Given the description of an element on the screen output the (x, y) to click on. 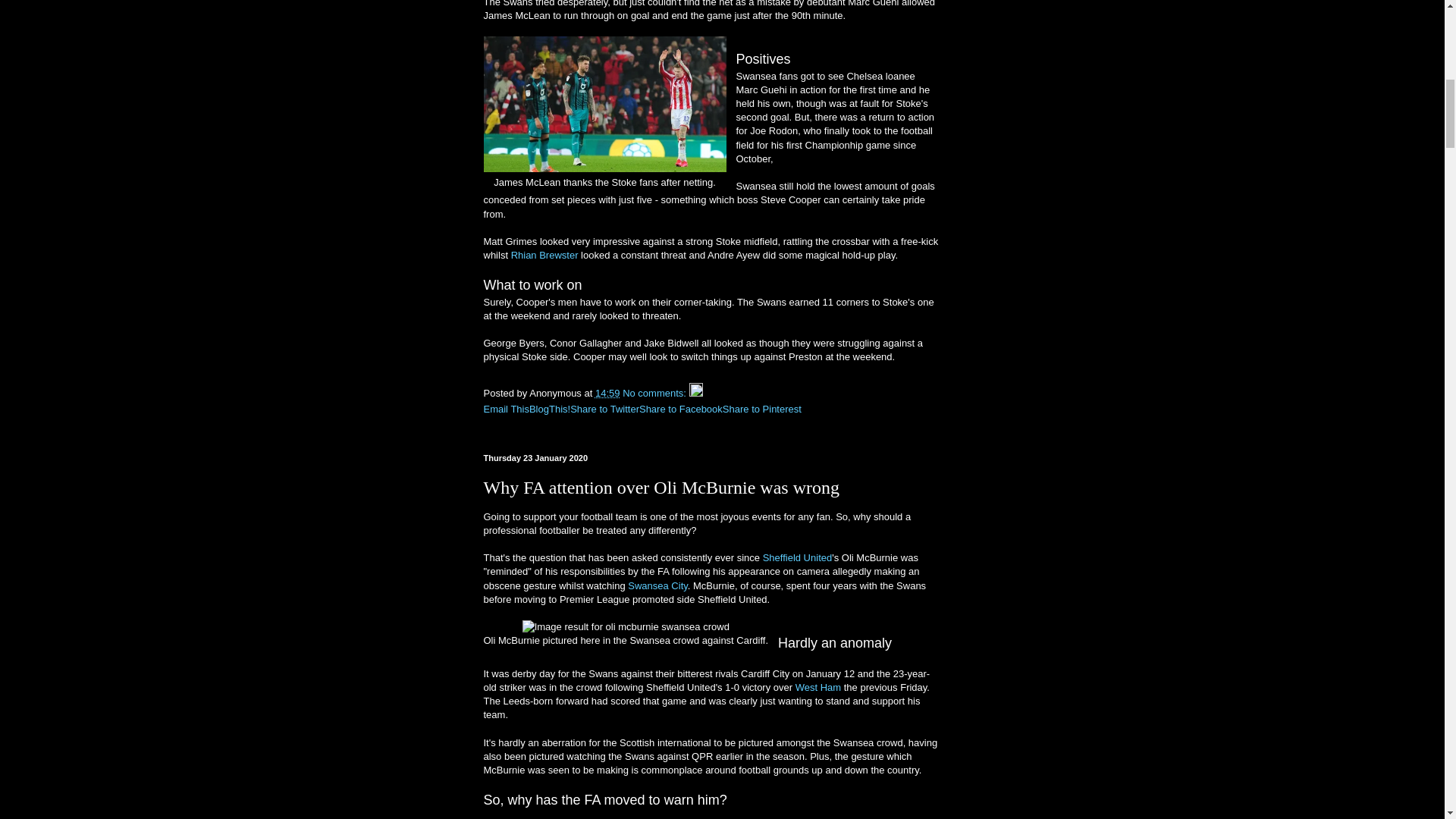
Edit Post (695, 392)
Swansea City (657, 584)
No comments: (655, 392)
permanent link (607, 392)
Sheffield United (797, 557)
Share to Facebook (680, 408)
14:59 (607, 392)
Share to Twitter (604, 408)
BlogThis! (549, 408)
Why FA attention over Oli McBurnie was wrong (661, 487)
Email This (506, 408)
Share to Twitter (604, 408)
Share to Pinterest (762, 408)
Share to Facebook (680, 408)
BlogThis! (549, 408)
